Given the description of an element on the screen output the (x, y) to click on. 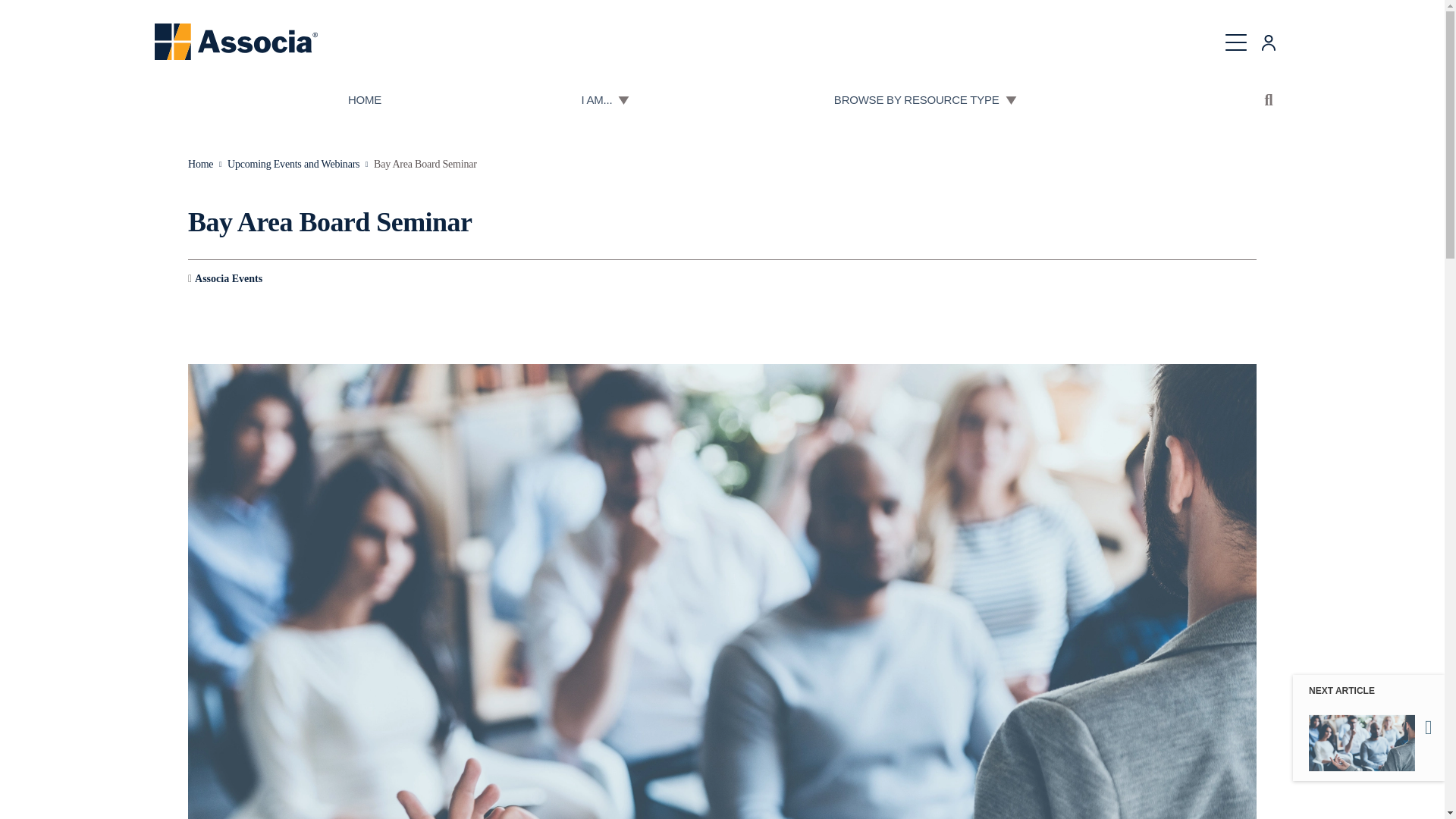
Open Search Box (1268, 99)
Request a Proposal (1007, 22)
Community Case Studies (722, 22)
Author (224, 278)
